Given the description of an element on the screen output the (x, y) to click on. 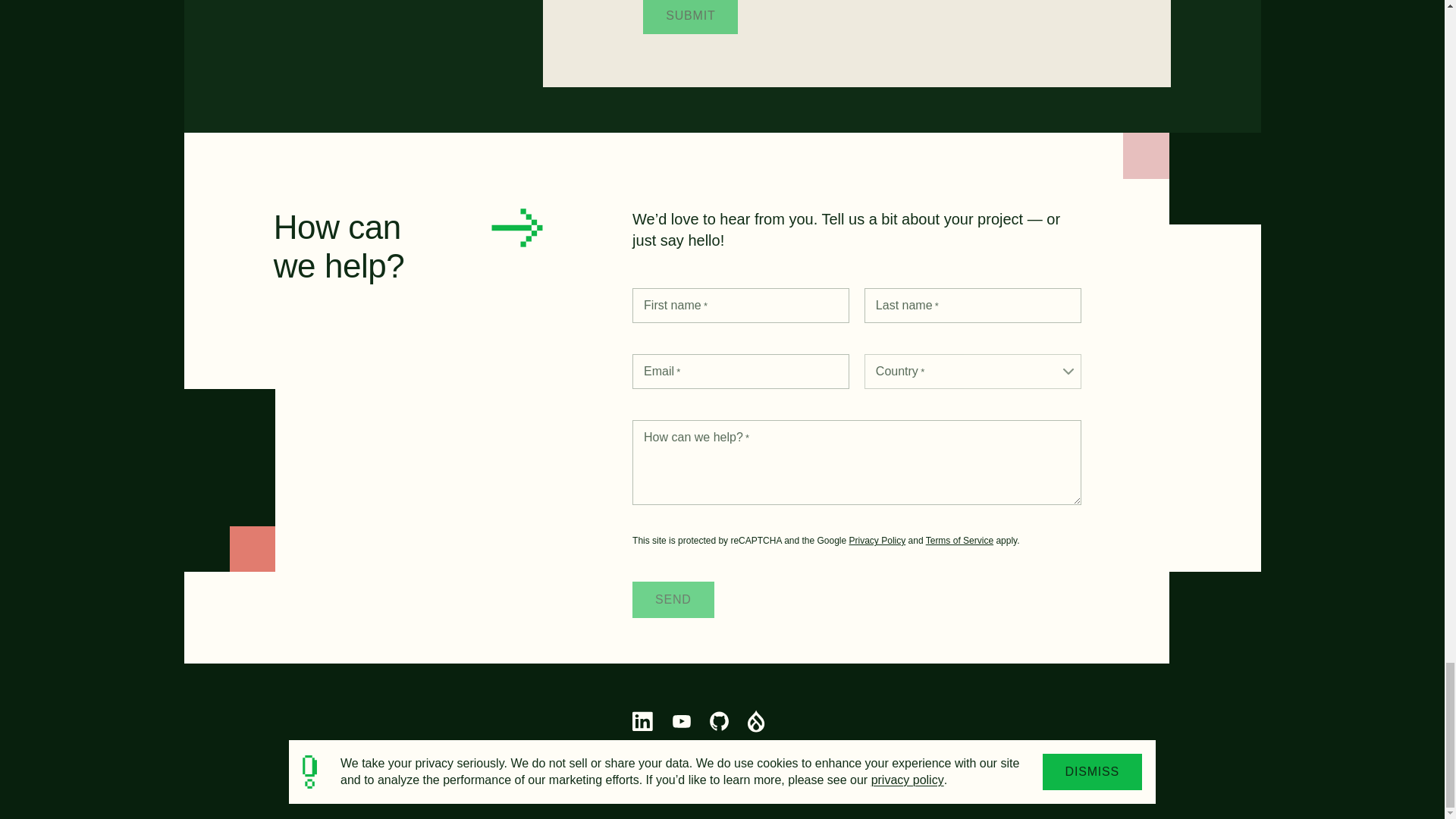
Submit (690, 17)
Send (672, 599)
